Given the description of an element on the screen output the (x, y) to click on. 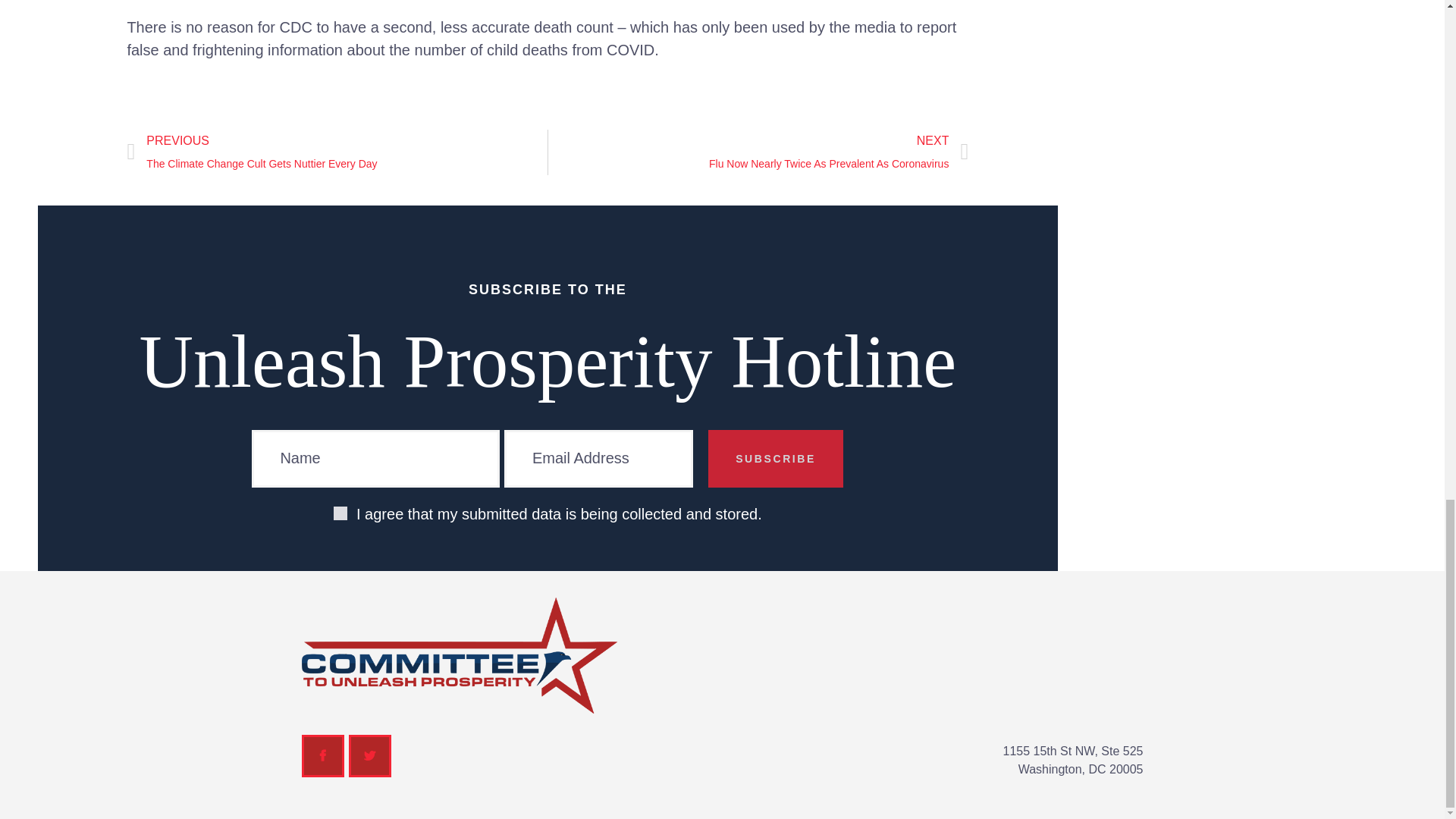
subscribe (838, 152)
